Given the description of an element on the screen output the (x, y) to click on. 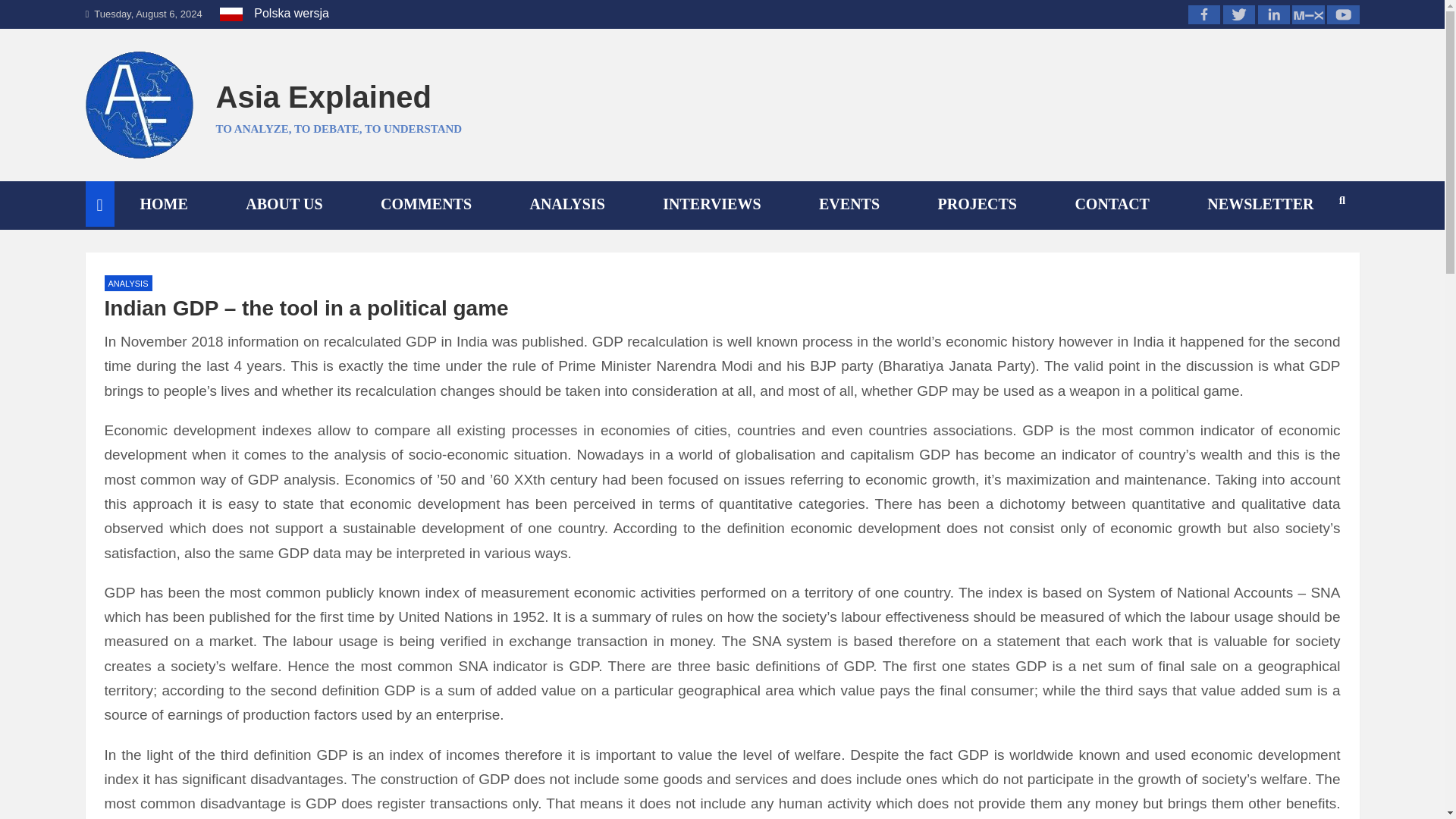
INTERVIEWS (710, 203)
ANALYSIS (128, 283)
CONTACT (1110, 203)
HOME (163, 203)
COMMENTS (425, 203)
Asia Explained (322, 96)
ABOUT US (282, 203)
EVENTS (848, 203)
NEWSLETTER (1260, 203)
ANALYSIS (566, 203)
